Given the description of an element on the screen output the (x, y) to click on. 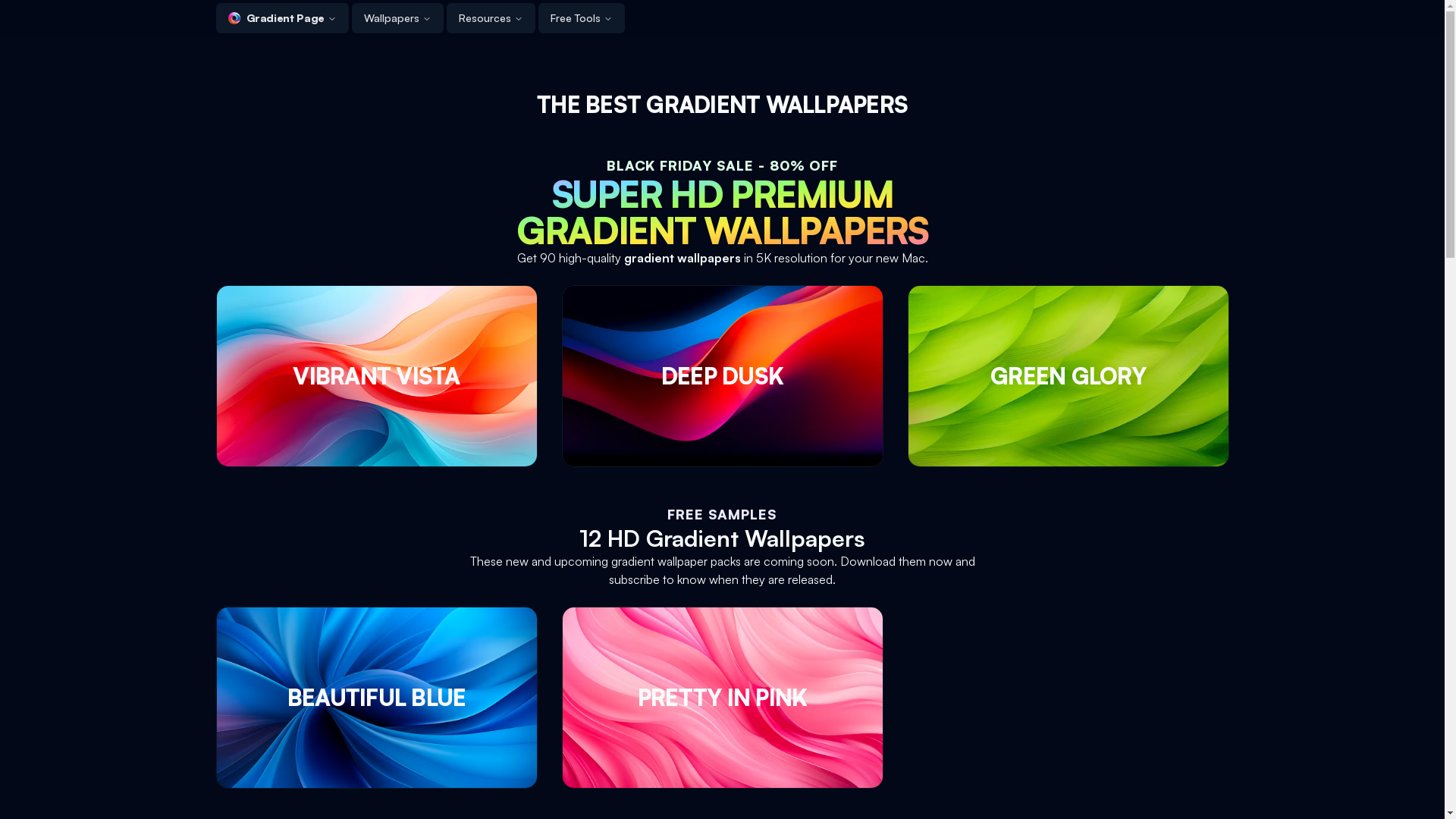
VIBRANT VISTA Element type: text (375, 376)
Wallpapers Element type: text (397, 18)
BEAUTIFUL BLUE Element type: text (375, 697)
Gradient Page Element type: text (281, 18)
PRETTY IN PINK Element type: text (721, 697)
Free
Tools Element type: text (581, 18)
gradient wallpapers Element type: text (681, 257)
Resources Element type: text (490, 18)
GREEN GLORY Element type: text (1067, 376)
DEEP DUSK Element type: text (721, 376)
